Given the description of an element on the screen output the (x, y) to click on. 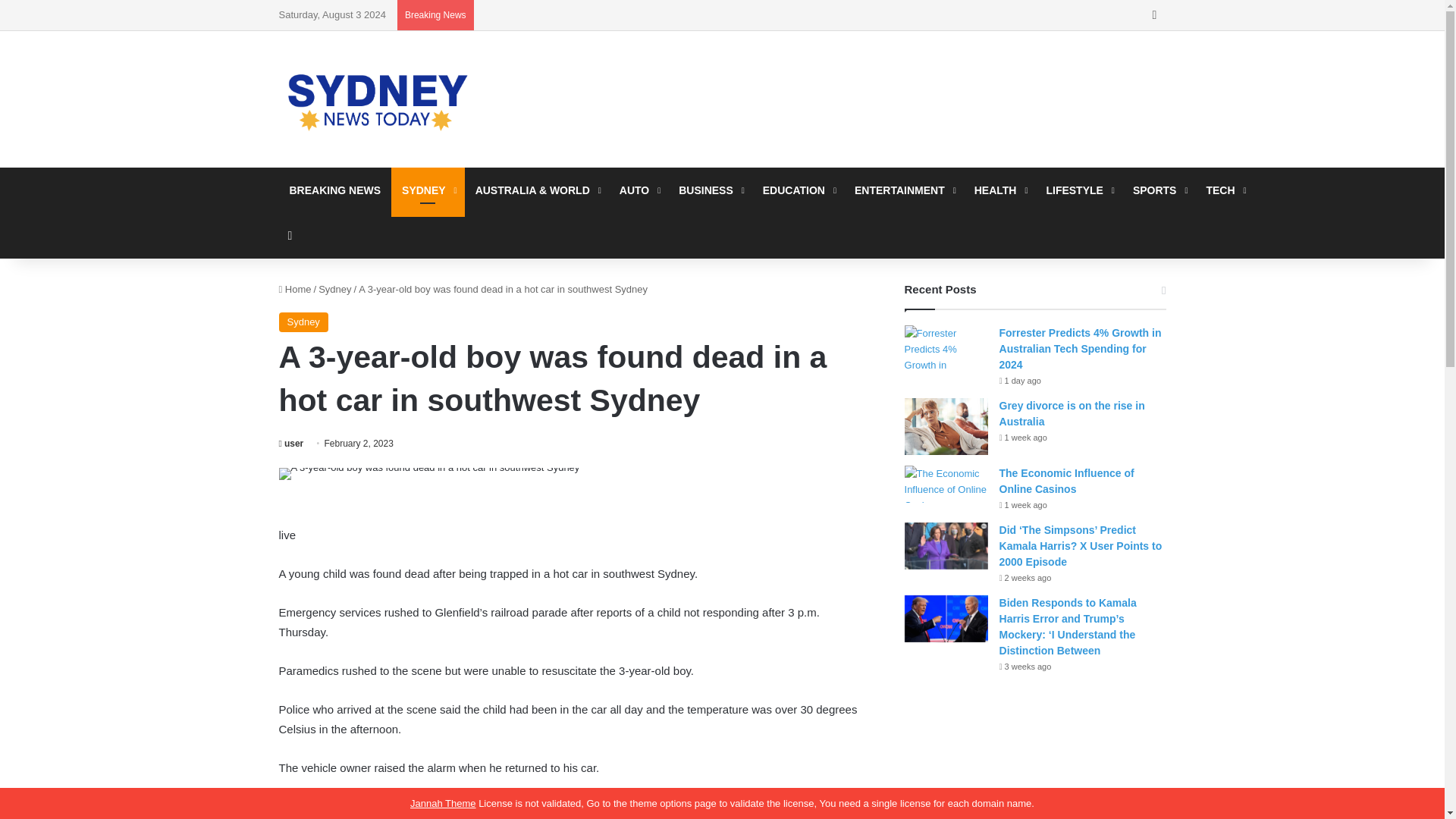
TECH (1224, 189)
user (291, 443)
BREAKING NEWS (335, 189)
Jannah Theme (443, 803)
LIFESTYLE (1078, 189)
EDUCATION (798, 189)
ENTERTAINMENT (903, 189)
SPORTS (1158, 189)
BUSINESS (710, 189)
Sydney (304, 322)
SYDNEY (427, 189)
AUTO (638, 189)
Sydneynewstoday.com (377, 99)
Home (295, 288)
